Given the description of an element on the screen output the (x, y) to click on. 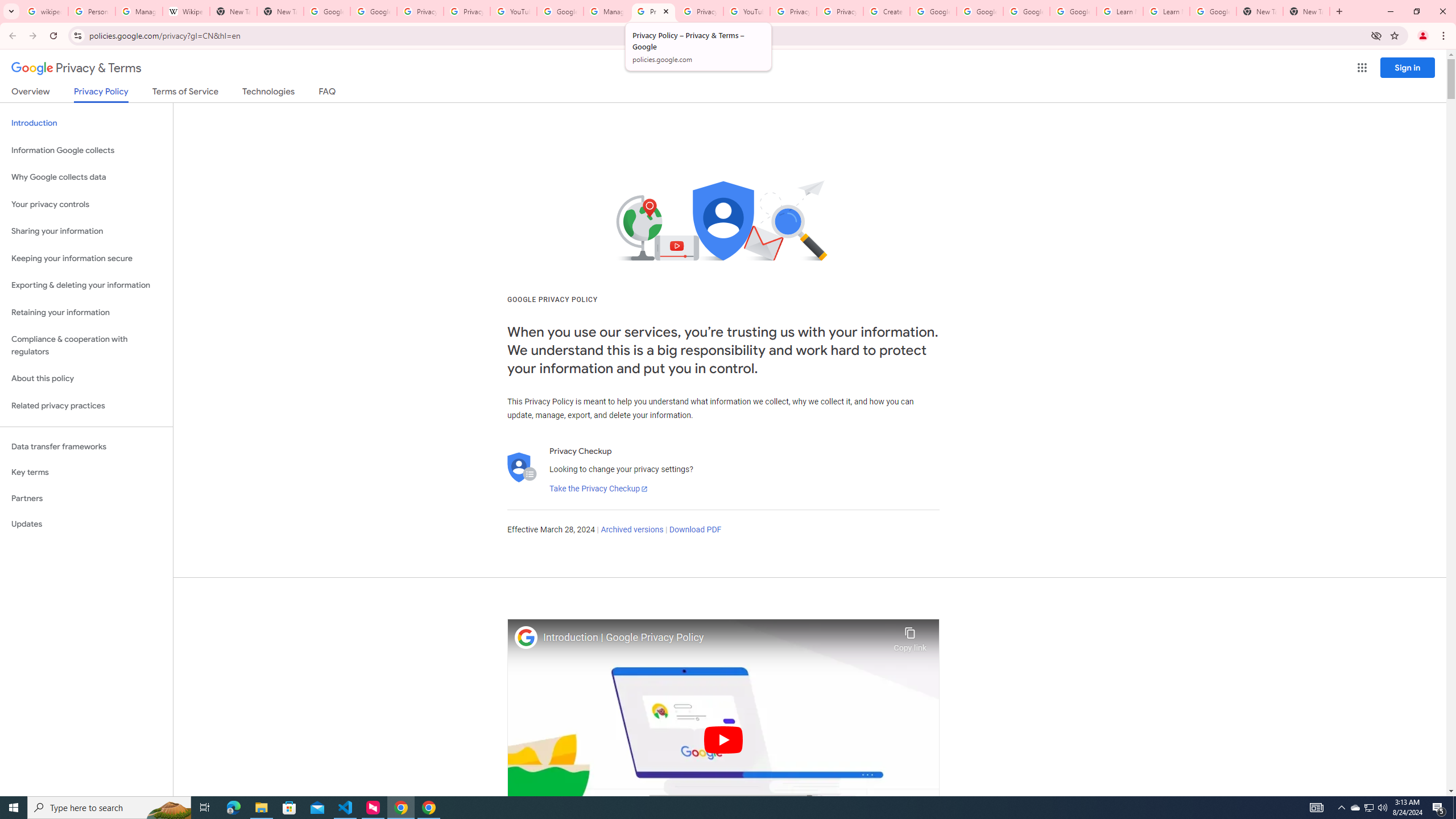
Related privacy practices (86, 405)
Google Account (1213, 11)
Copy link (909, 636)
